Given the description of an element on the screen output the (x, y) to click on. 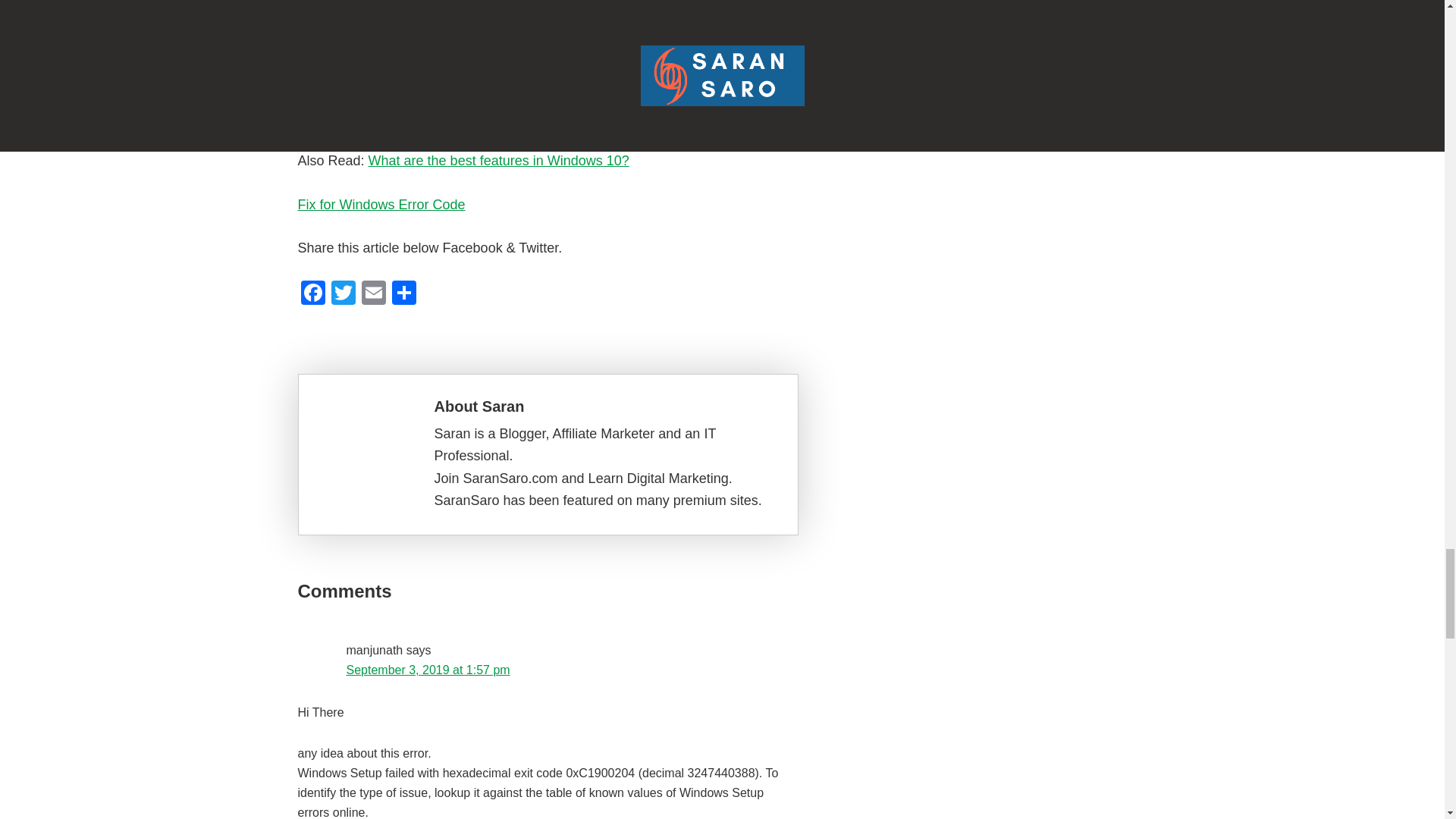
Email (373, 294)
Twitter (342, 294)
Twitter (342, 294)
Facebook (312, 294)
Facebook (312, 294)
September 3, 2019 at 1:57 pm (427, 669)
What are the best features in Windows 10? (498, 160)
Fix for Windows Error Code (380, 204)
Email (373, 294)
